Given the description of an element on the screen output the (x, y) to click on. 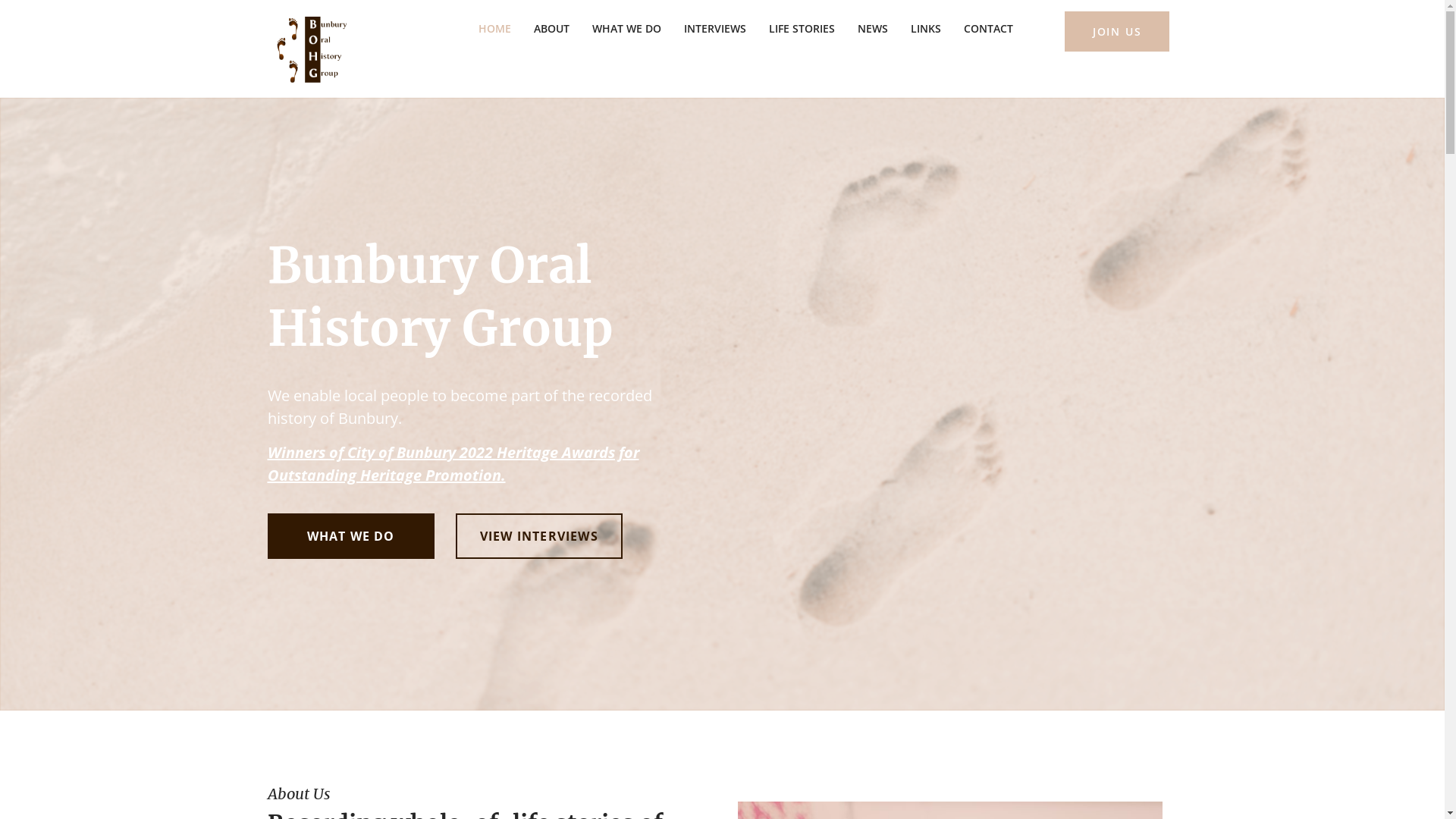
CONTACT Element type: text (988, 28)
INTERVIEWS Element type: text (713, 28)
JOIN US Element type: text (1117, 31)
LIFE STORIES Element type: text (800, 28)
ABOUT Element type: text (550, 28)
LINKS Element type: text (925, 28)
VIEW INTERVIEWS Element type: text (538, 535)
WHAT WE DO Element type: text (349, 535)
WHAT WE DO Element type: text (626, 28)
HOME Element type: text (494, 28)
NEWS Element type: text (872, 28)
